Given the description of an element on the screen output the (x, y) to click on. 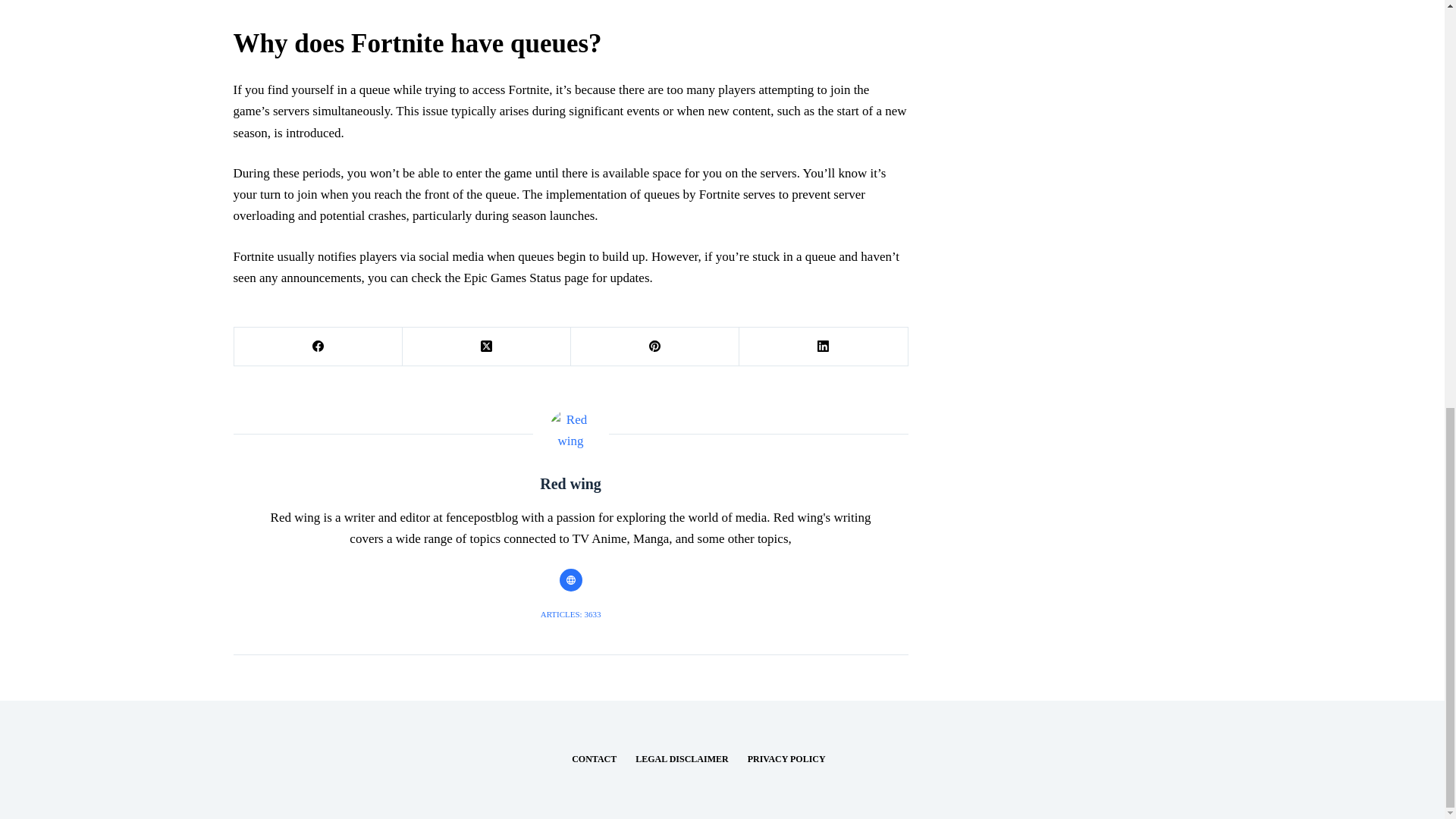
LEGAL DISCLAIMER (682, 759)
CONTACT (594, 759)
ARTICLES: 3633 (570, 613)
PRIVACY POLICY (786, 759)
